Given the description of an element on the screen output the (x, y) to click on. 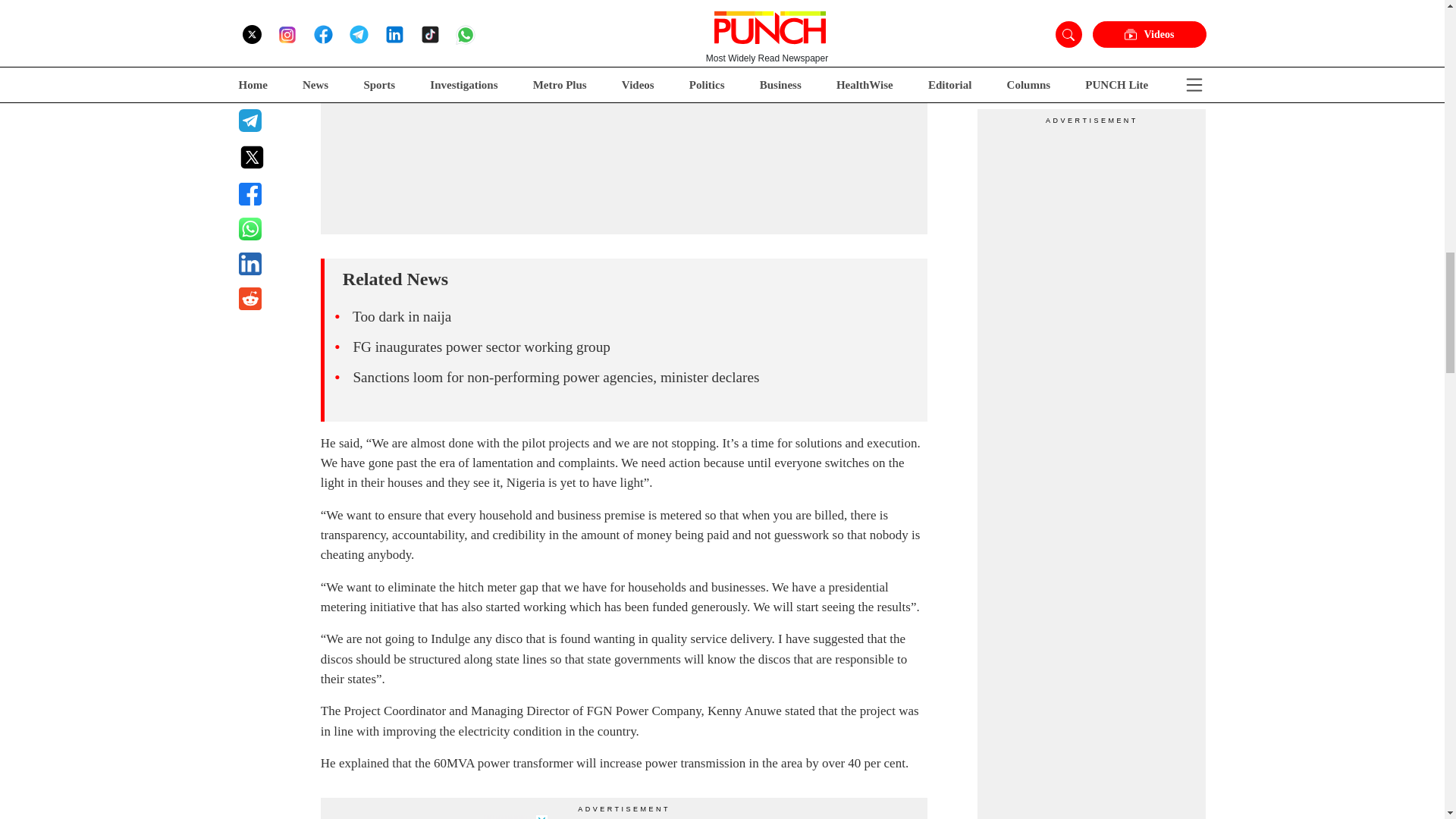
3rd party ad content (434, 816)
